Given the description of an element on the screen output the (x, y) to click on. 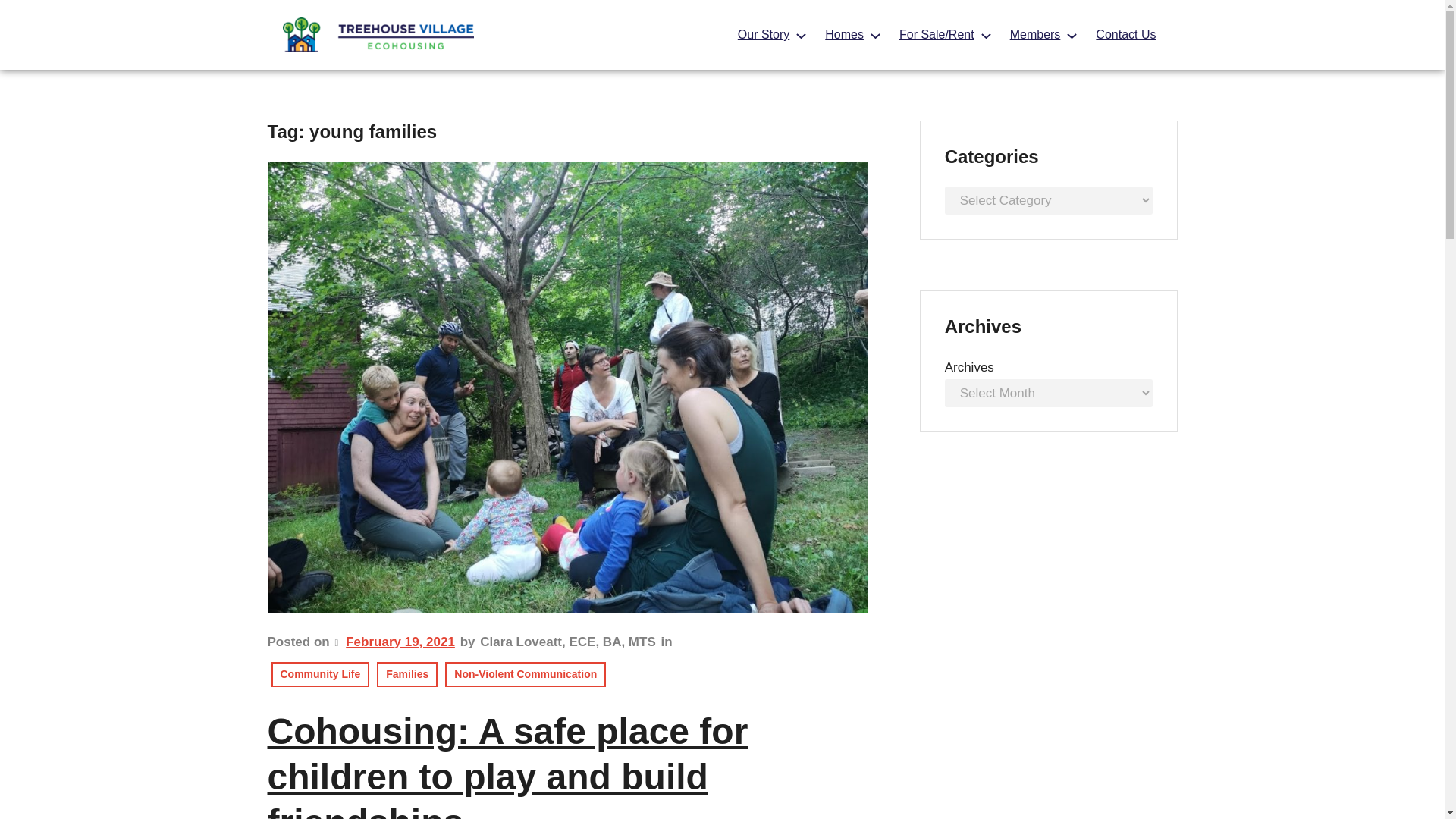
Contact Us (1125, 34)
February 19, 2021 (400, 641)
Members (1035, 34)
Community Life (319, 674)
Families (407, 674)
Non-Violent Communication (525, 674)
Our Story (763, 34)
